Given the description of an element on the screen output the (x, y) to click on. 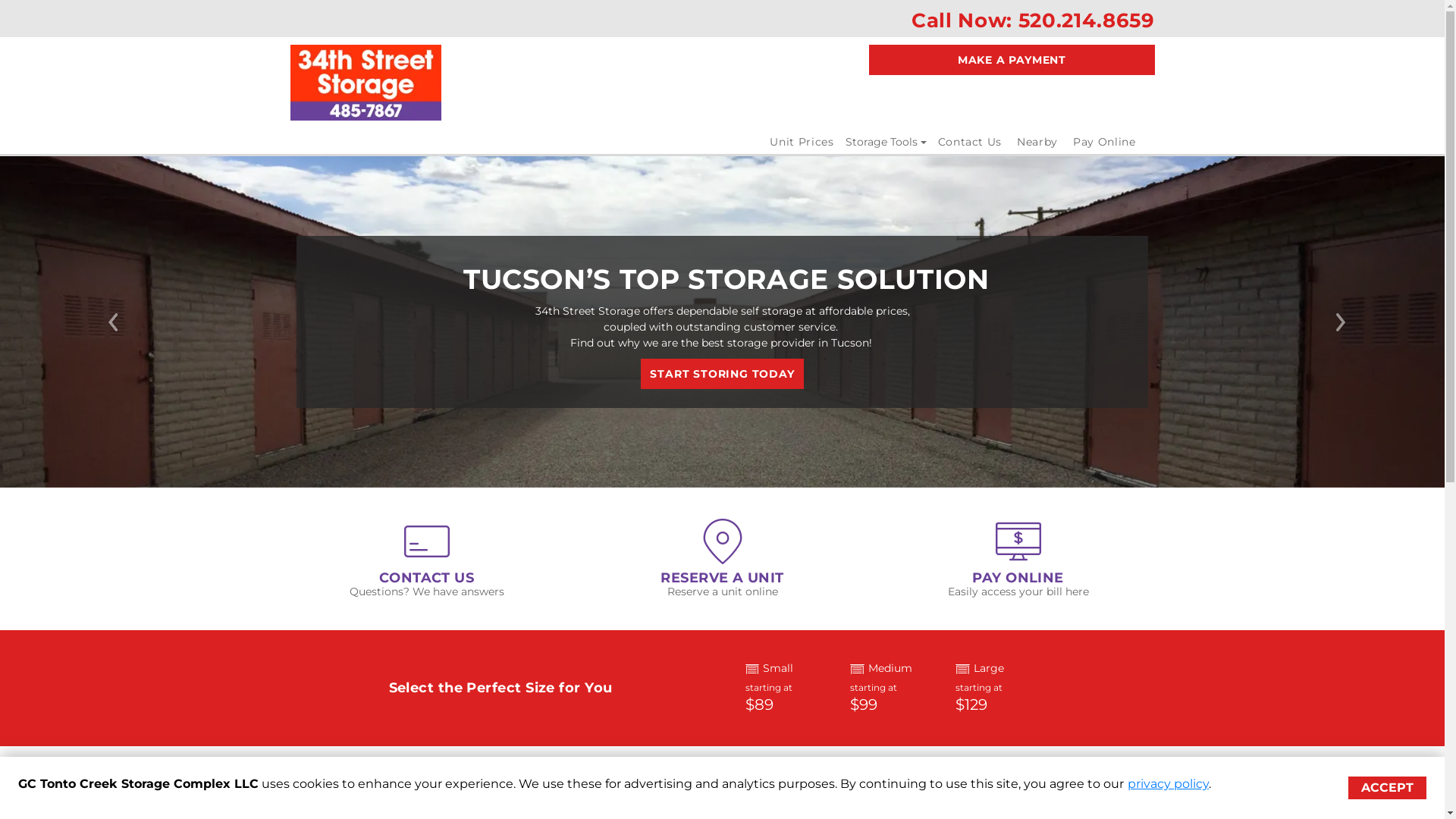
520.214.8659 Element type: text (1086, 20)
Storage Tools Element type: text (885, 141)
ACCEPT Element type: text (1387, 787)
34th Street Storage logo Element type: hover (364, 82)
Next Element type: text (1335, 321)
Nearby Element type: text (1036, 141)
PAY ONLINE Element type: text (1017, 577)
MAKE A PAYMENT Element type: text (1011, 59)
START STORING TODAY Element type: text (721, 373)
Pay Online Element type: text (1104, 141)
privacy policy Element type: text (1167, 783)
Zoom In Element type: hover (308, 795)
Previous Element type: text (108, 321)
RESERVE A UNIT Element type: text (721, 577)
Medium
starting at
$99 Element type: text (891, 687)
Large
starting at
$129 Element type: text (996, 687)
Small
starting at
$89 Element type: text (785, 687)
Drive Units Available in Tucson, AZ Element type: hover (722, 321)
Unit Prices Element type: text (801, 141)
CONTACT US Element type: text (426, 577)
Contact Us Element type: text (970, 141)
